Given the description of an element on the screen output the (x, y) to click on. 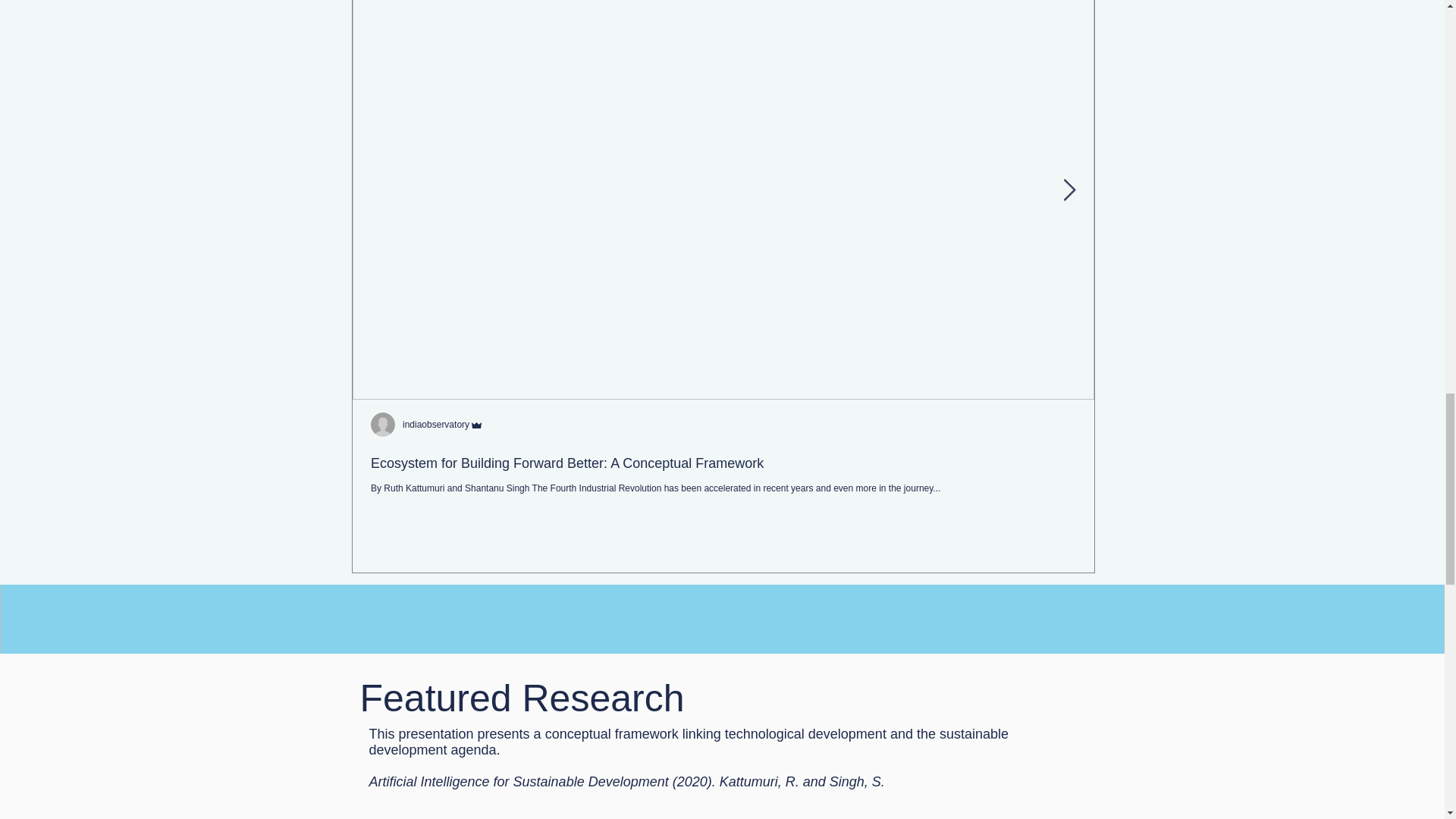
indiaobservatory (1175, 424)
indiaobservatory (434, 424)
